Given the description of an element on the screen output the (x, y) to click on. 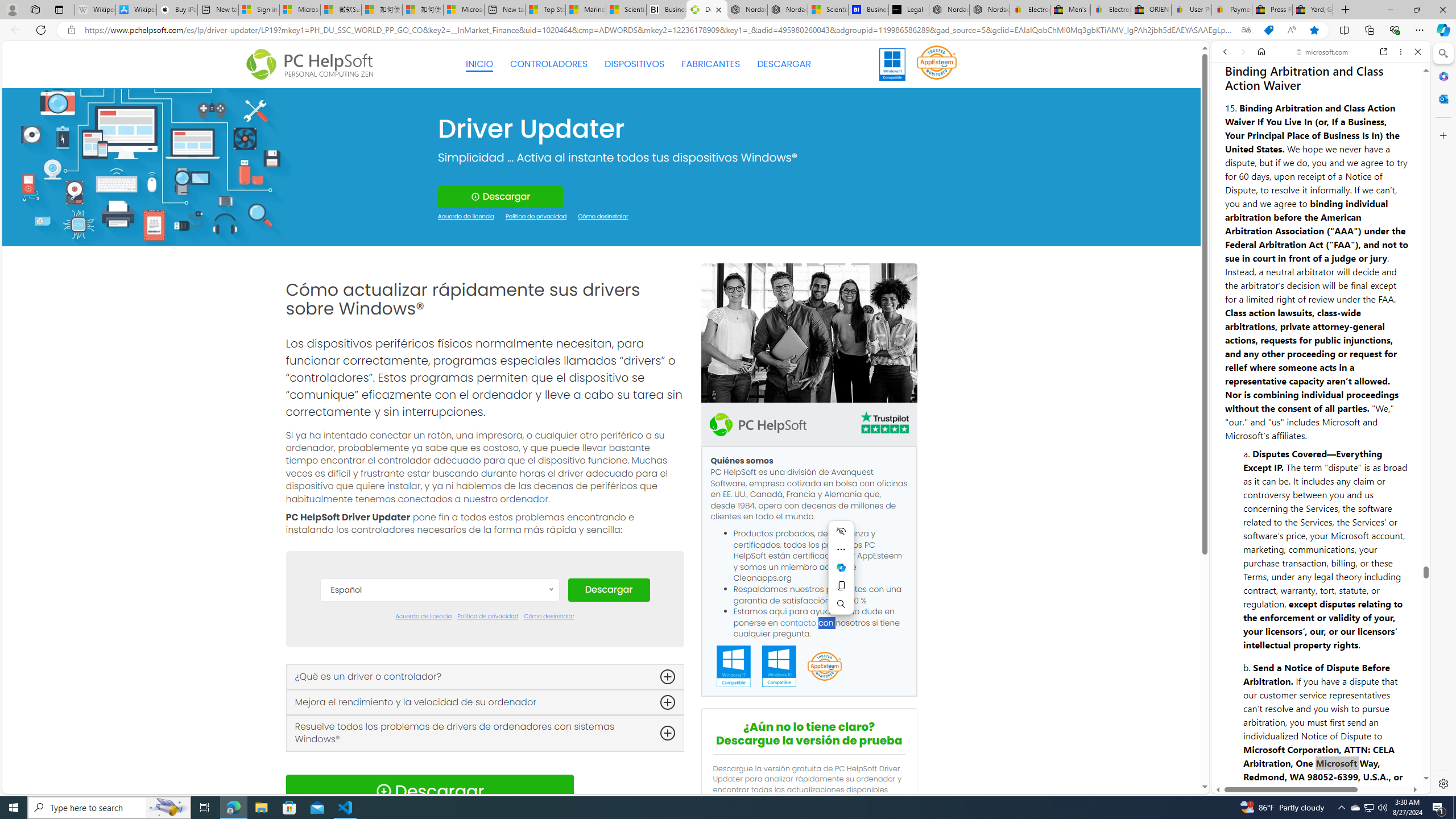
team (808, 332)
CONTROLADORES (548, 64)
Download Icon (383, 791)
Advertise (1335, 751)
Logo Personal Computing (313, 64)
Nederlands (439, 763)
Deutsch (439, 678)
Open link in new tab (1383, 51)
Forward (1242, 51)
Search the web (1326, 78)
